Given the description of an element on the screen output the (x, y) to click on. 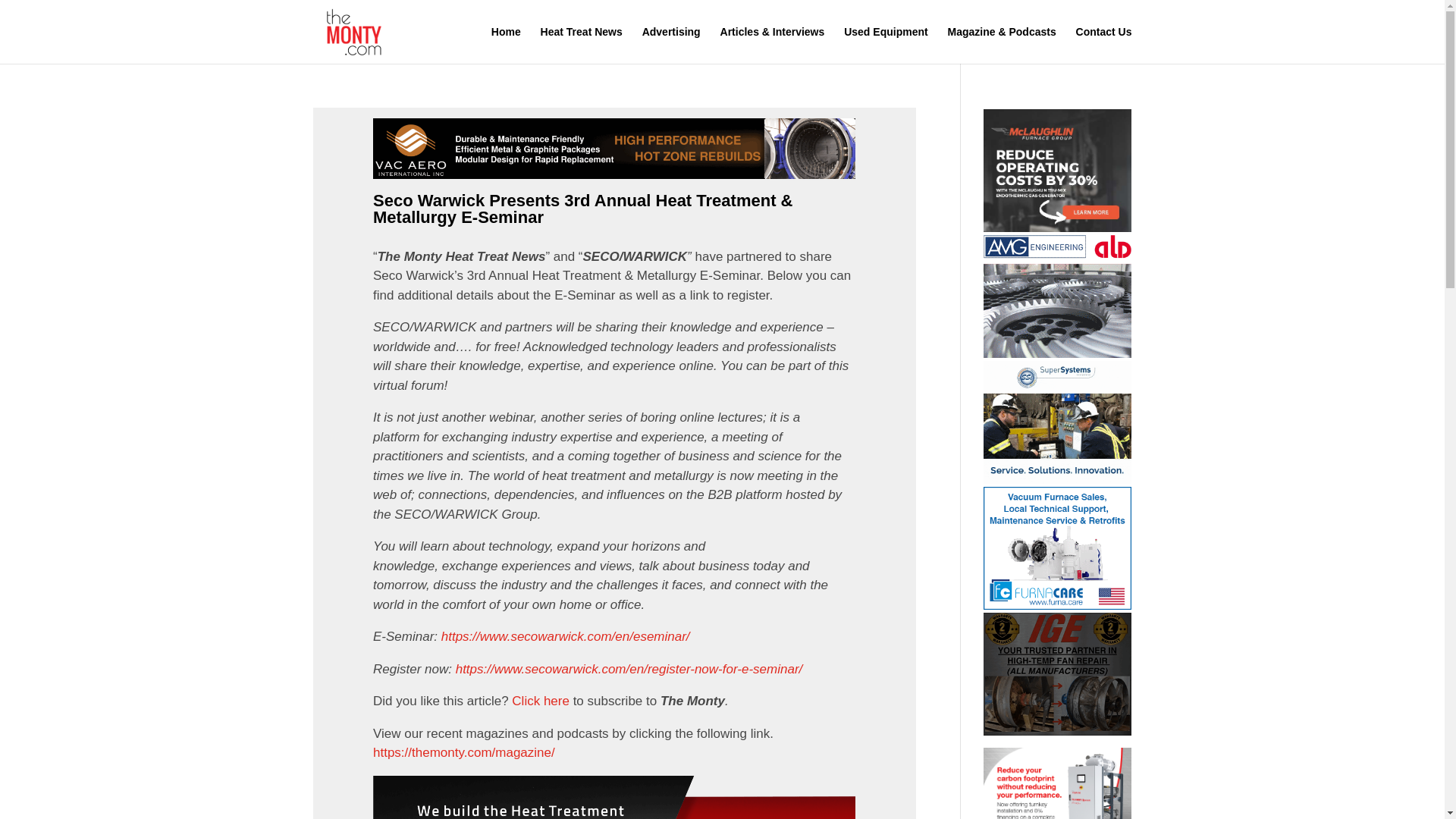
Click here (540, 700)
Contact Us (1103, 44)
Advertising (671, 44)
Used Equipment (885, 44)
Heat Treat News (581, 44)
